Given the description of an element on the screen output the (x, y) to click on. 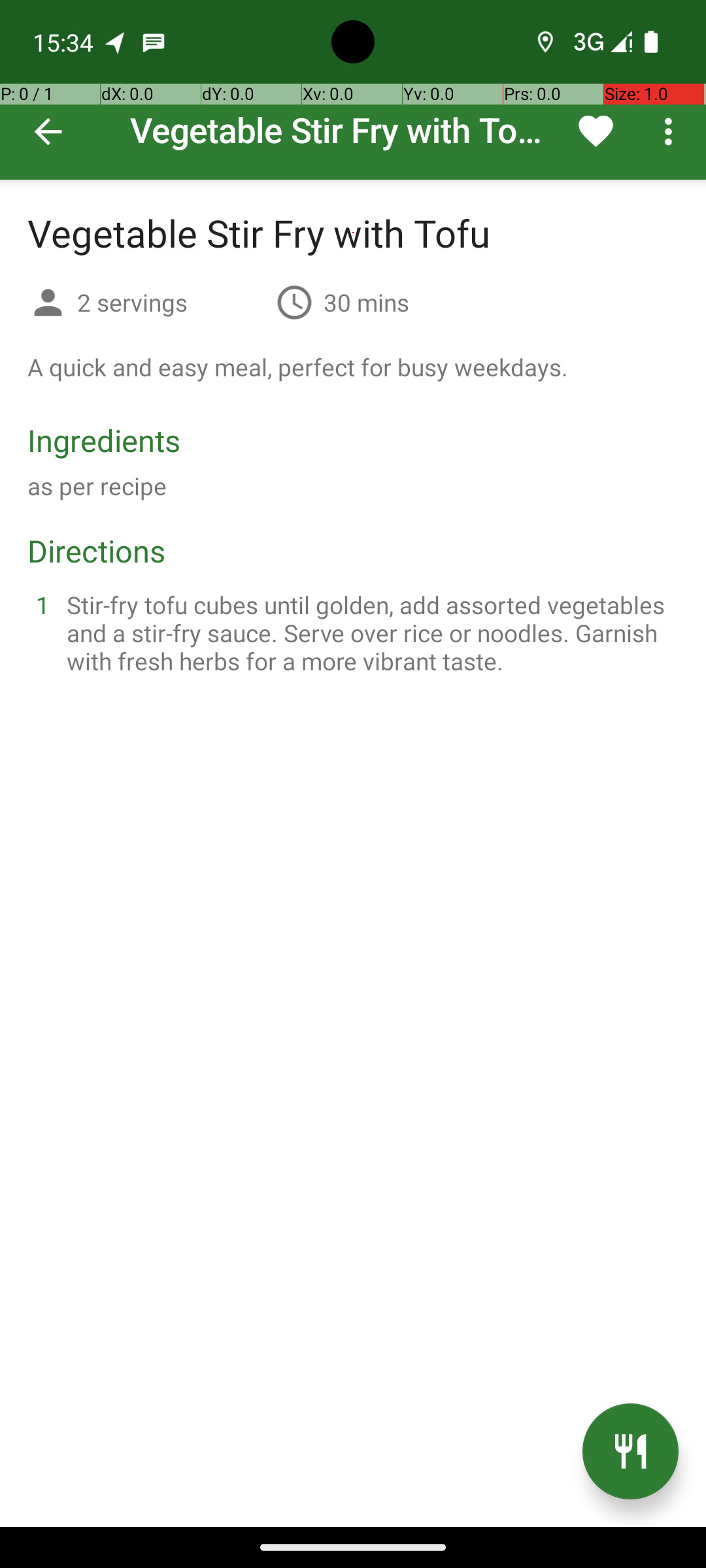
Vegetable Stir Fry with Tofu Element type: android.widget.FrameLayout (353, 89)
as per recipe Element type: android.widget.TextView (96, 485)
Stir-fry tofu cubes until golden, add assorted vegetables and a stir-fry sauce. Serve over rice or noodles. Garnish with fresh herbs for a more vibrant taste. Element type: android.widget.TextView (368, 632)
SMS Messenger notification: Noa Mohamed Element type: android.widget.ImageView (153, 41)
